Given the description of an element on the screen output the (x, y) to click on. 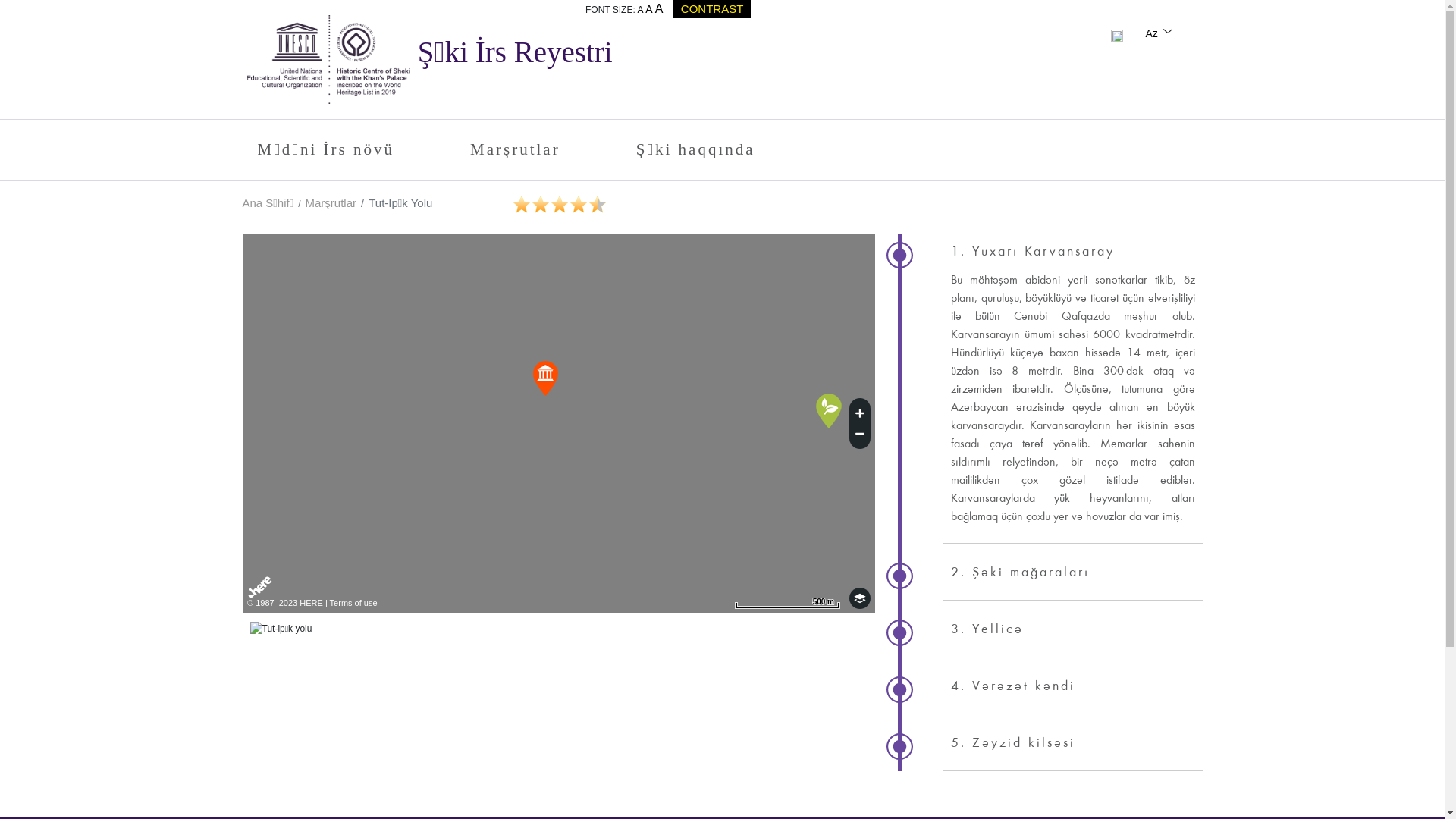
A Element type: text (648, 9)
Zoom out Element type: hover (859, 435)
Terms of use Element type: text (353, 602)
Az Element type: text (1159, 33)
  Element type: text (1116, 32)
Zoom in Element type: hover (859, 410)
A Element type: text (659, 8)
Choose view Element type: hover (859, 597)
A Element type: text (639, 9)
